Given the description of an element on the screen output the (x, y) to click on. 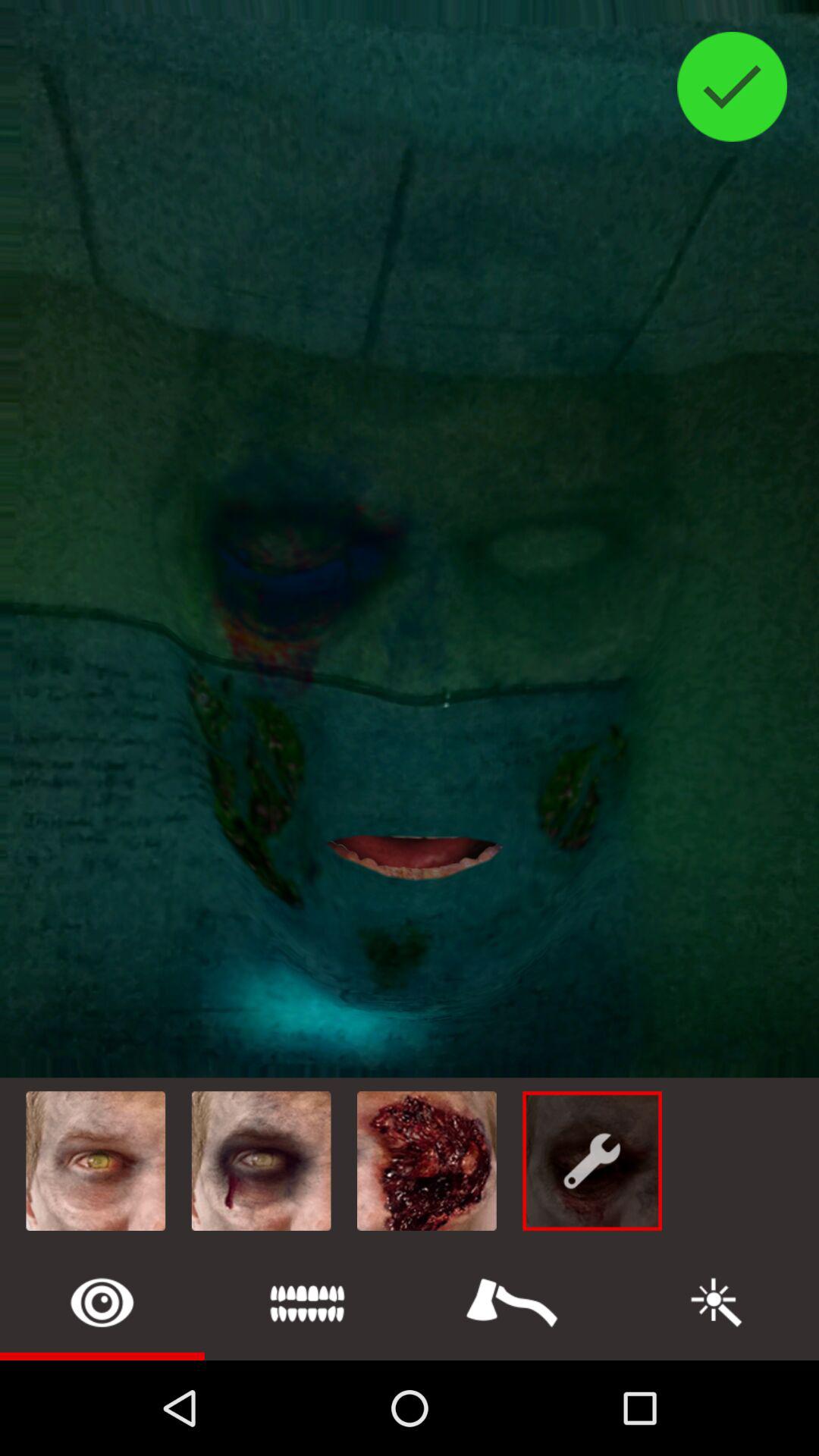
unlock item (102, 1302)
